Given the description of an element on the screen output the (x, y) to click on. 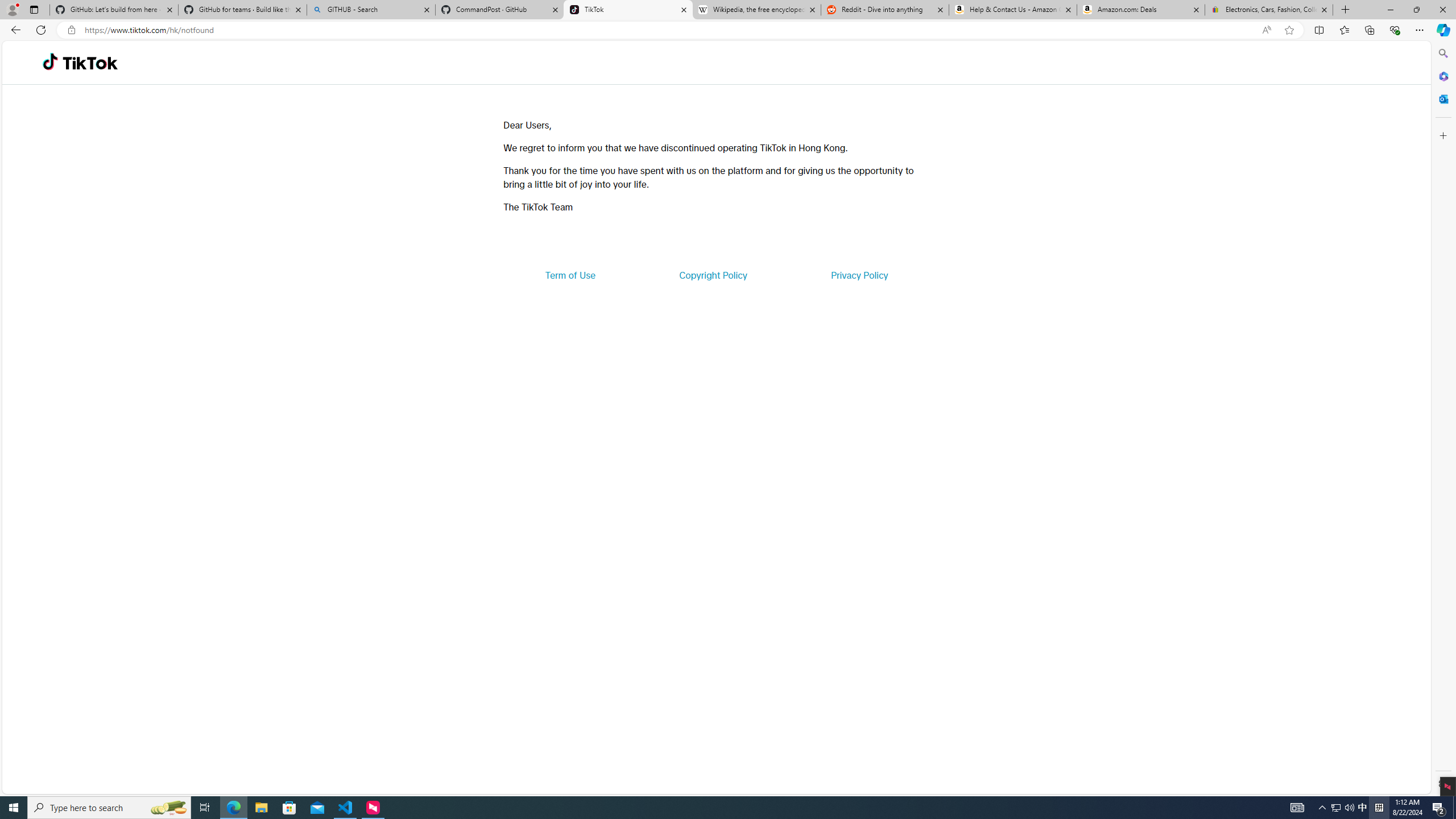
Amazon.com: Deals (1140, 9)
TikTok (628, 9)
Wikipedia, the free encyclopedia (756, 9)
